Given the description of an element on the screen output the (x, y) to click on. 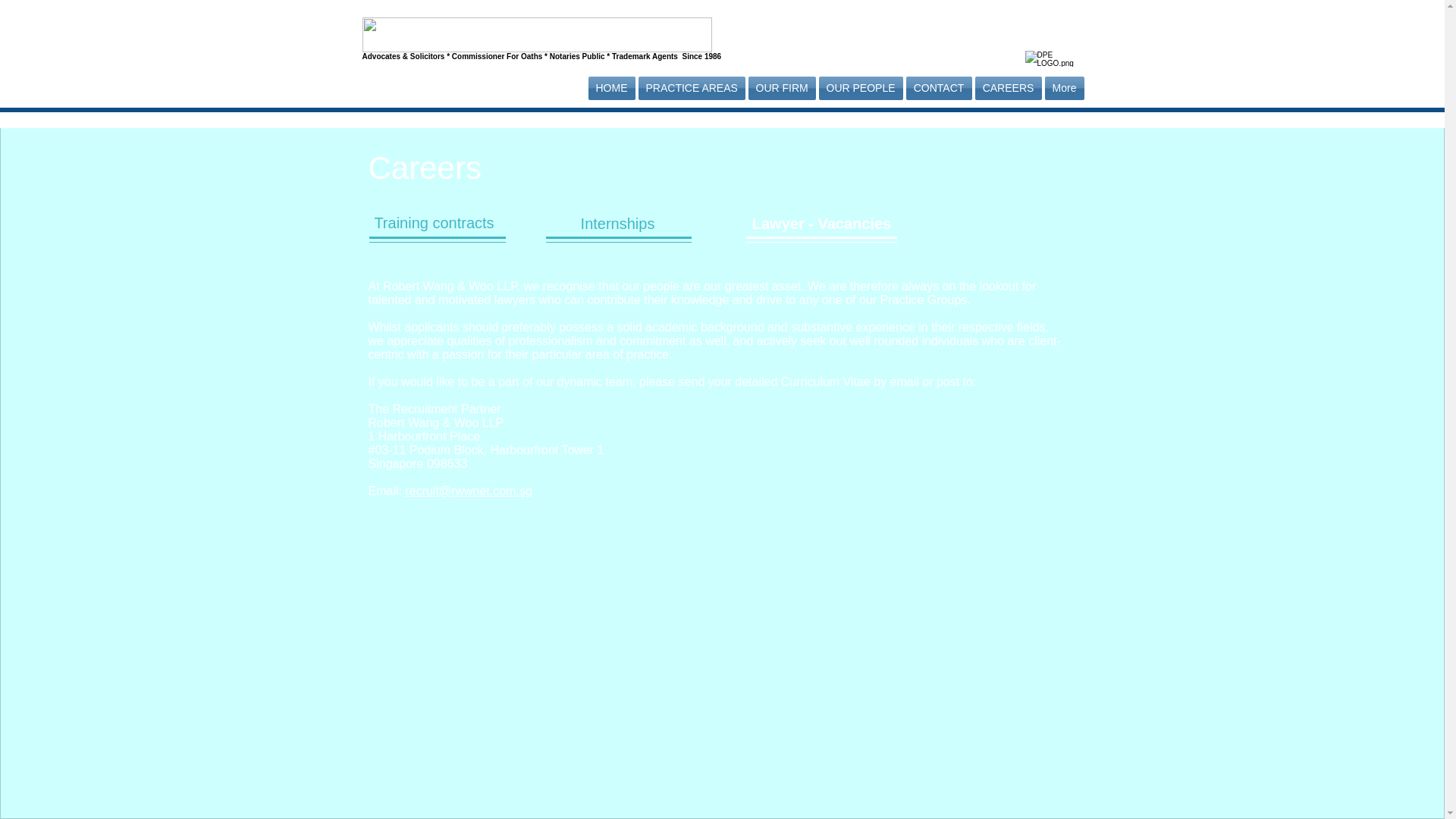
HOME (611, 87)
CONTACT (938, 87)
CAREERS (1008, 87)
PRACTICE AREAS (691, 87)
Lawyer - Vacancies (822, 223)
OUR PEOPLE (860, 87)
Internships (617, 223)
Training contracts (433, 223)
OUR FIRM (780, 87)
